Given the description of an element on the screen output the (x, y) to click on. 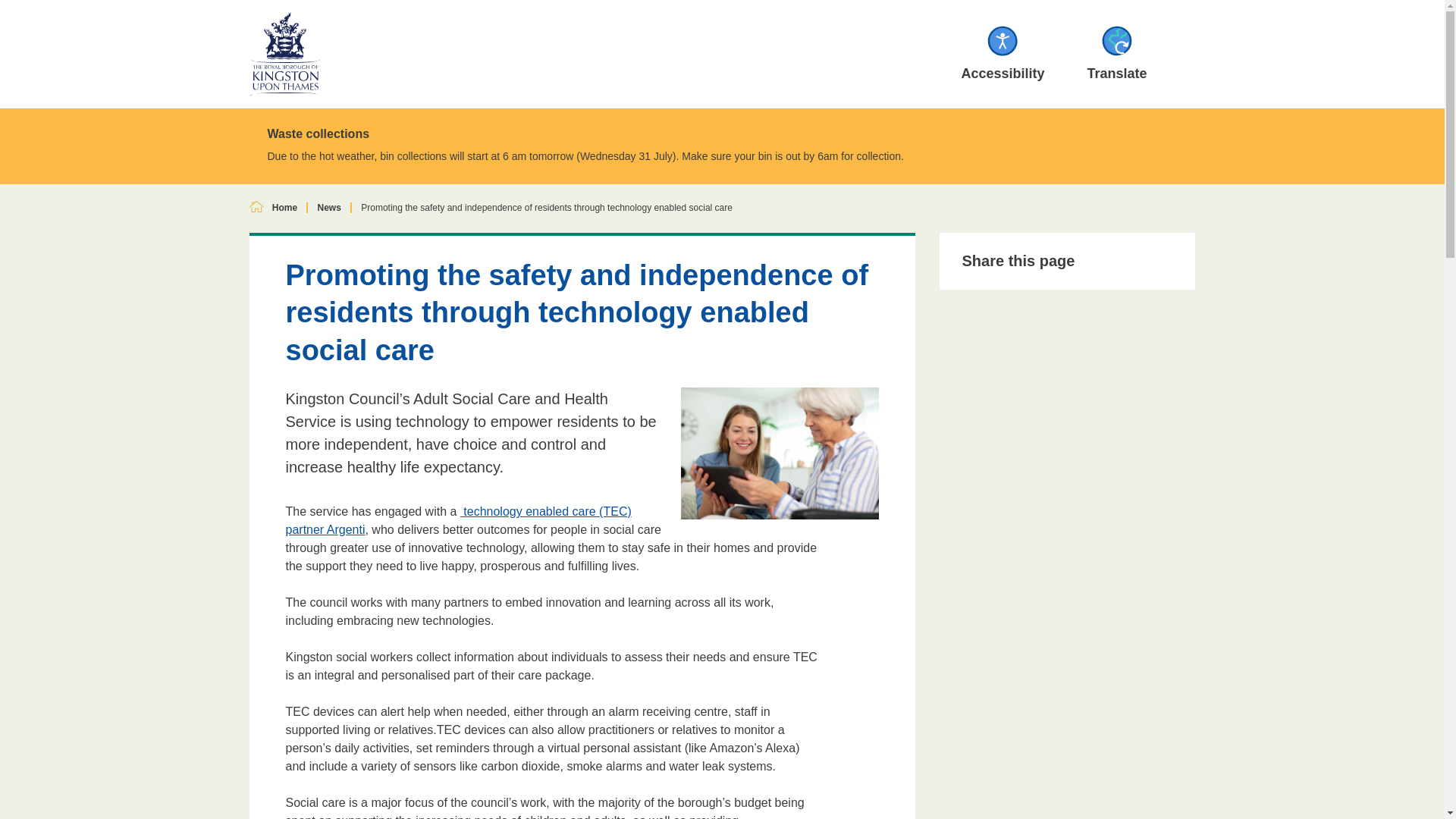
Accessibility (1003, 54)
News (328, 208)
Home (284, 208)
